Given the description of an element on the screen output the (x, y) to click on. 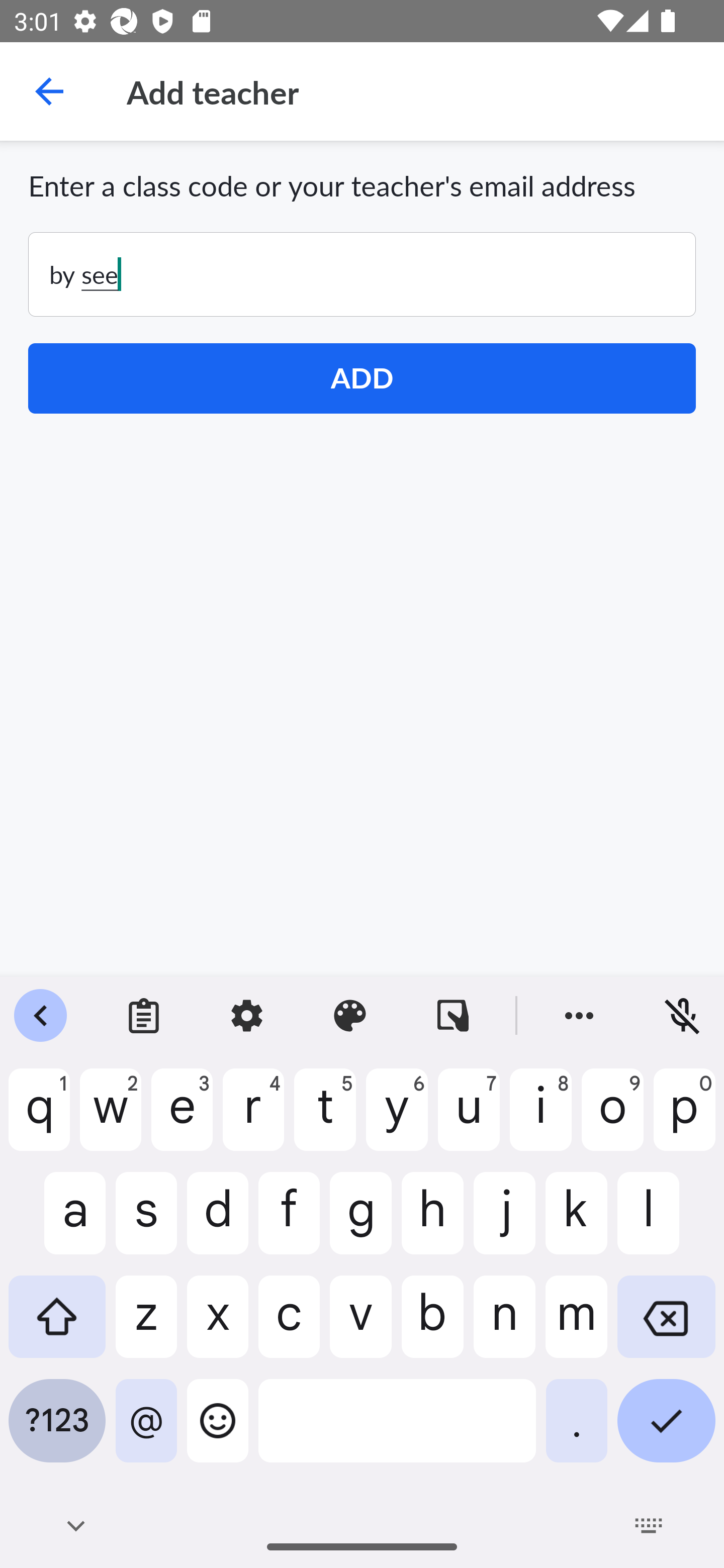
Navigate up (49, 91)
by see e.g. ABC123 or teacher@example.com (361, 274)
ADD (361, 378)
